Given the description of an element on the screen output the (x, y) to click on. 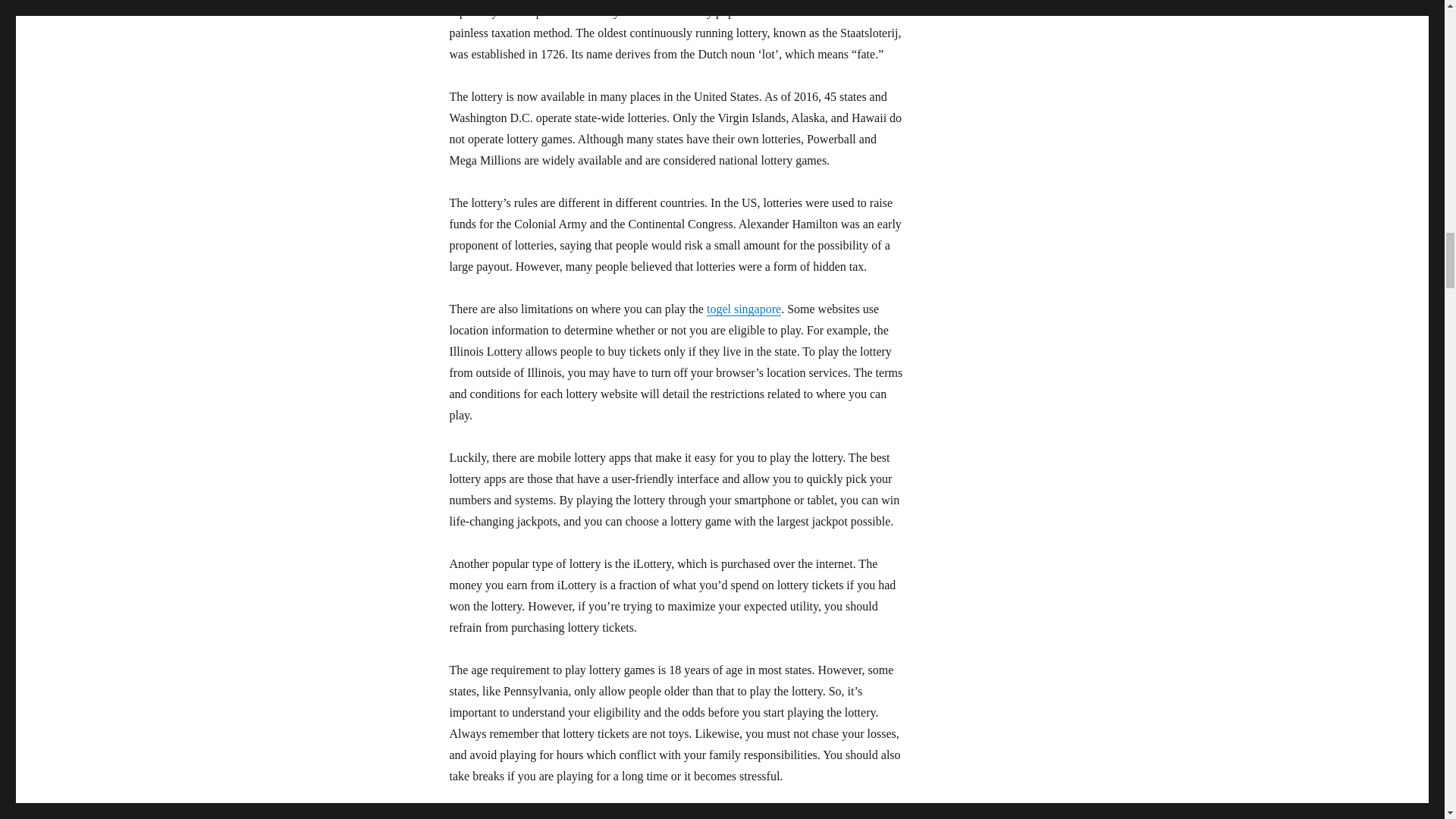
togel singapore (743, 308)
